Given the description of an element on the screen output the (x, y) to click on. 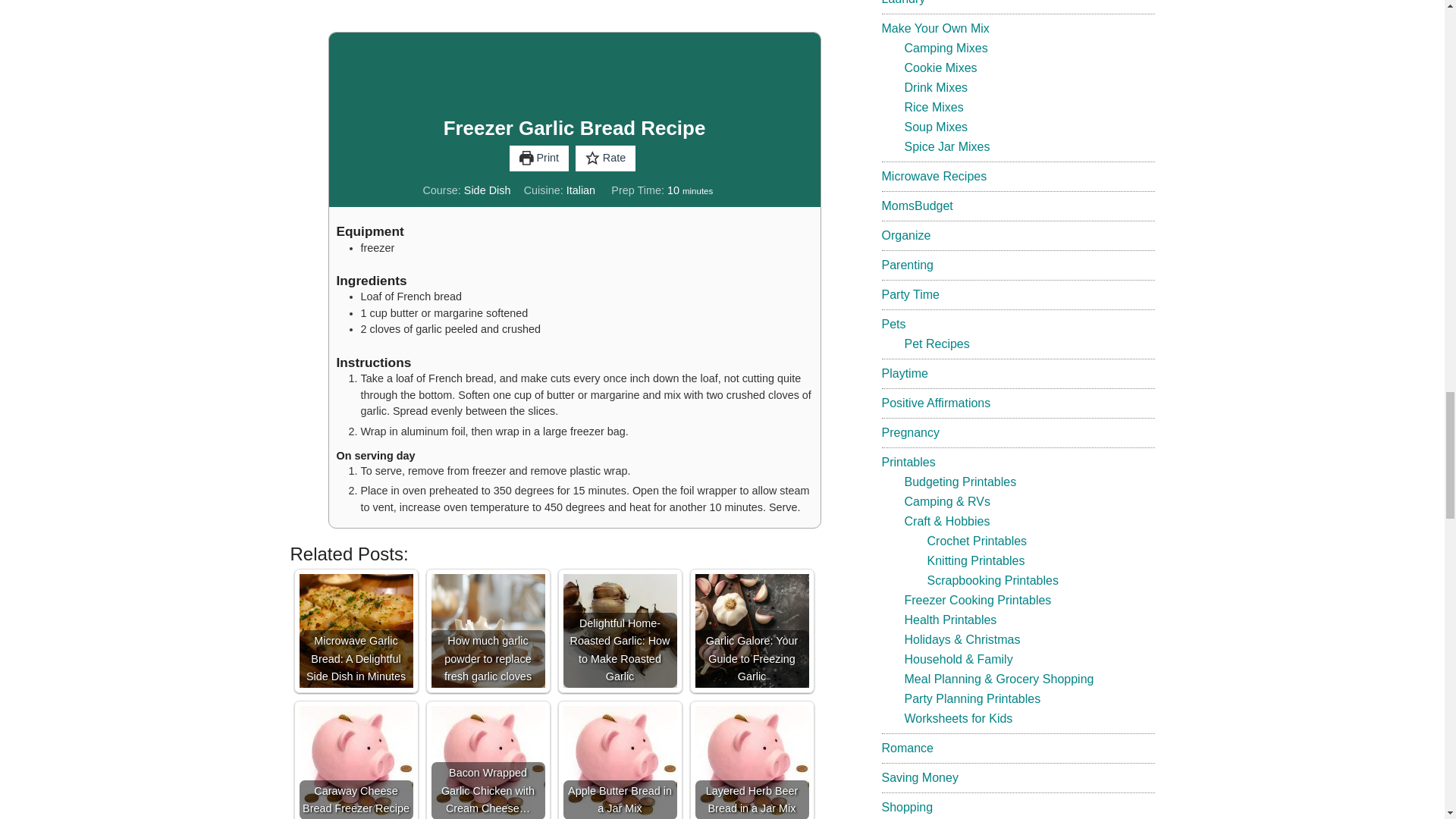
Microwave Garlic Bread: A Delightful Side Dish in Minutes (355, 630)
Layered Herb Beer Bread in a Jar Mix (751, 762)
Garlic Galore: Your Guide to Freezing Garlic (751, 630)
Microwave Garlic Bread: A Delightful Side Dish in Minutes (355, 630)
How much garlic powder to replace fresh garlic cloves (487, 630)
Print (539, 158)
Apple Butter Bread in a Jar Mix (619, 762)
Rate (604, 158)
How much garlic powder to replace fresh garlic cloves (487, 630)
Garlic Galore: Your Guide to Freezing Garlic (751, 630)
